Given the description of an element on the screen output the (x, y) to click on. 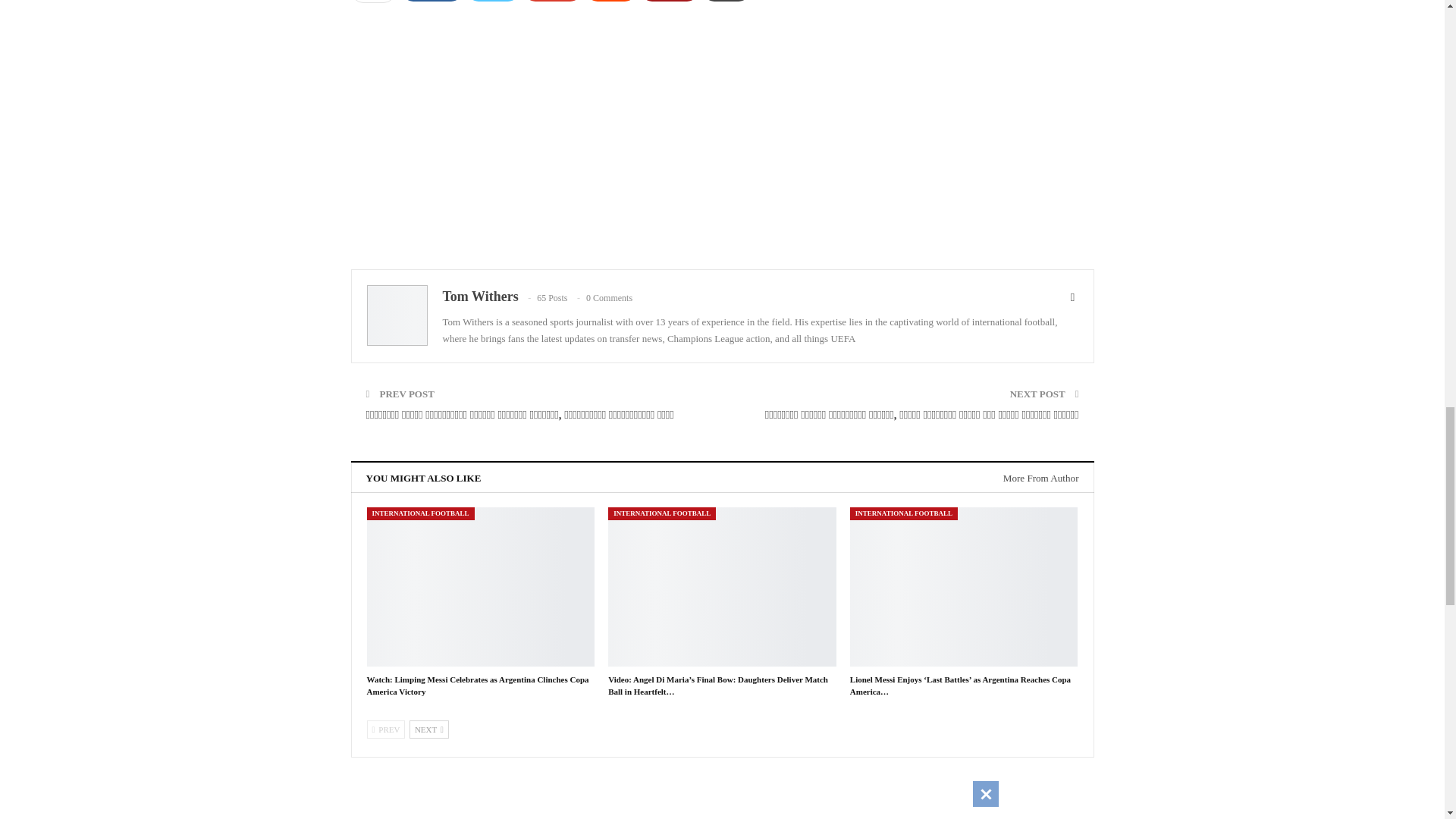
ReddIt (611, 0)
Facebook (432, 0)
Twitter (492, 0)
